Given the description of an element on the screen output the (x, y) to click on. 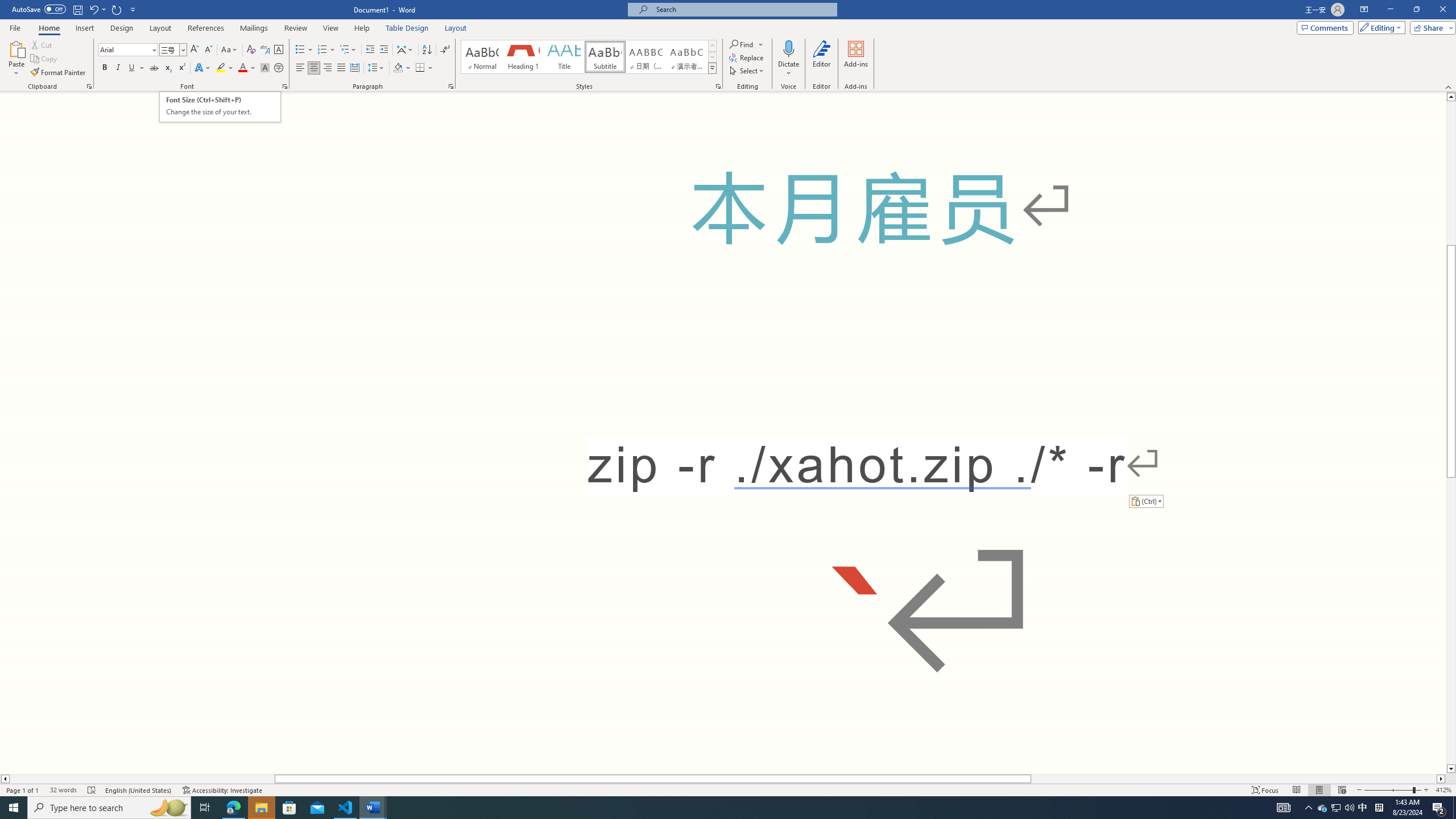
Line up (1450, 96)
Undo Paste (96, 9)
Line down (1450, 768)
Spelling and Grammar Check Errors (91, 790)
Action: Paste alternatives (1145, 500)
Column right (1441, 778)
Page up (1450, 172)
